Given the description of an element on the screen output the (x, y) to click on. 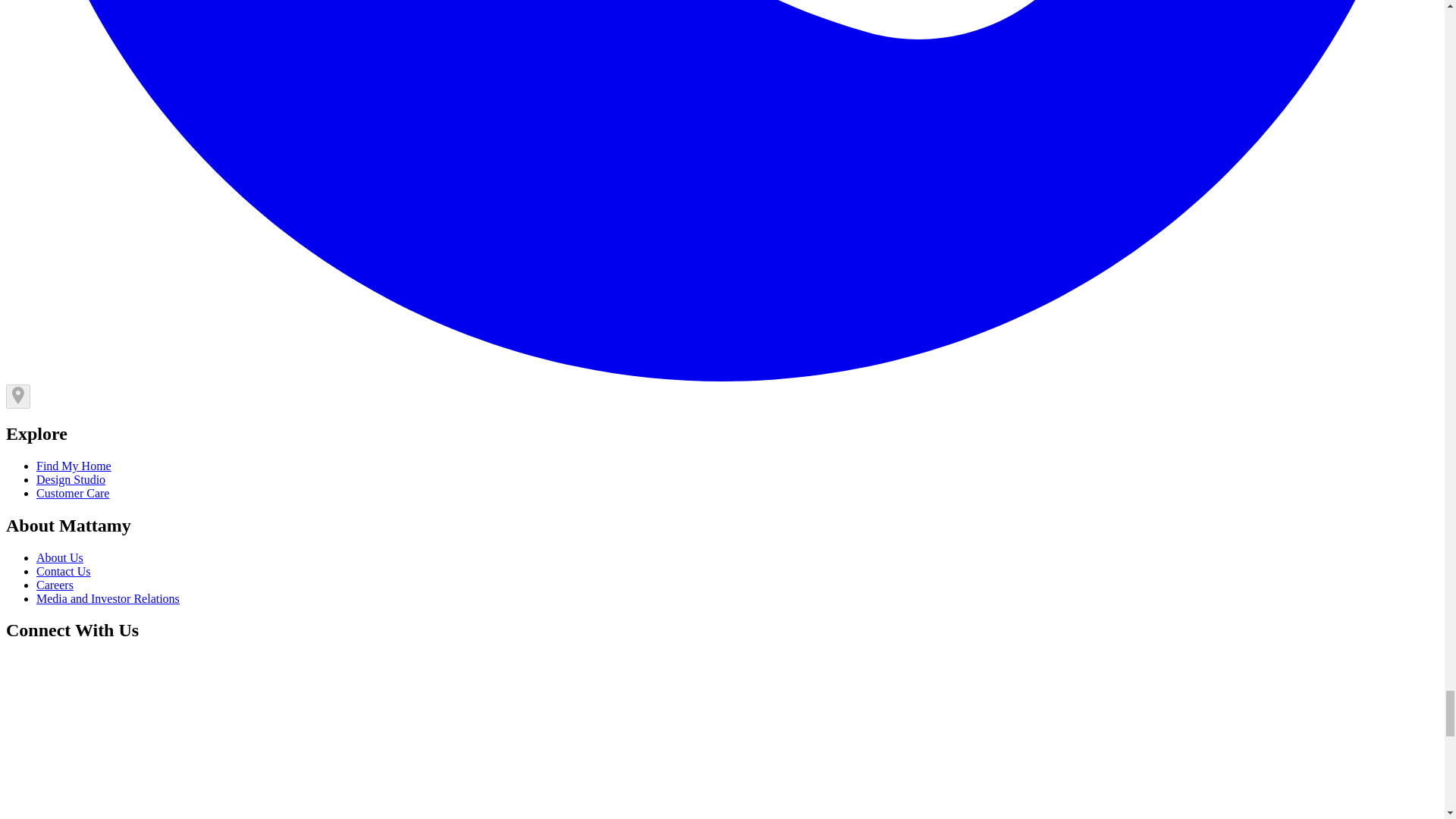
About Us (59, 557)
Contact Us (63, 571)
Find My Home (74, 465)
Map Location Icon (17, 399)
Map Location Icon (17, 396)
Media and Investor Relations (107, 598)
Careers (55, 584)
Design Studio (70, 479)
Customer Care (72, 492)
